Given the description of an element on the screen output the (x, y) to click on. 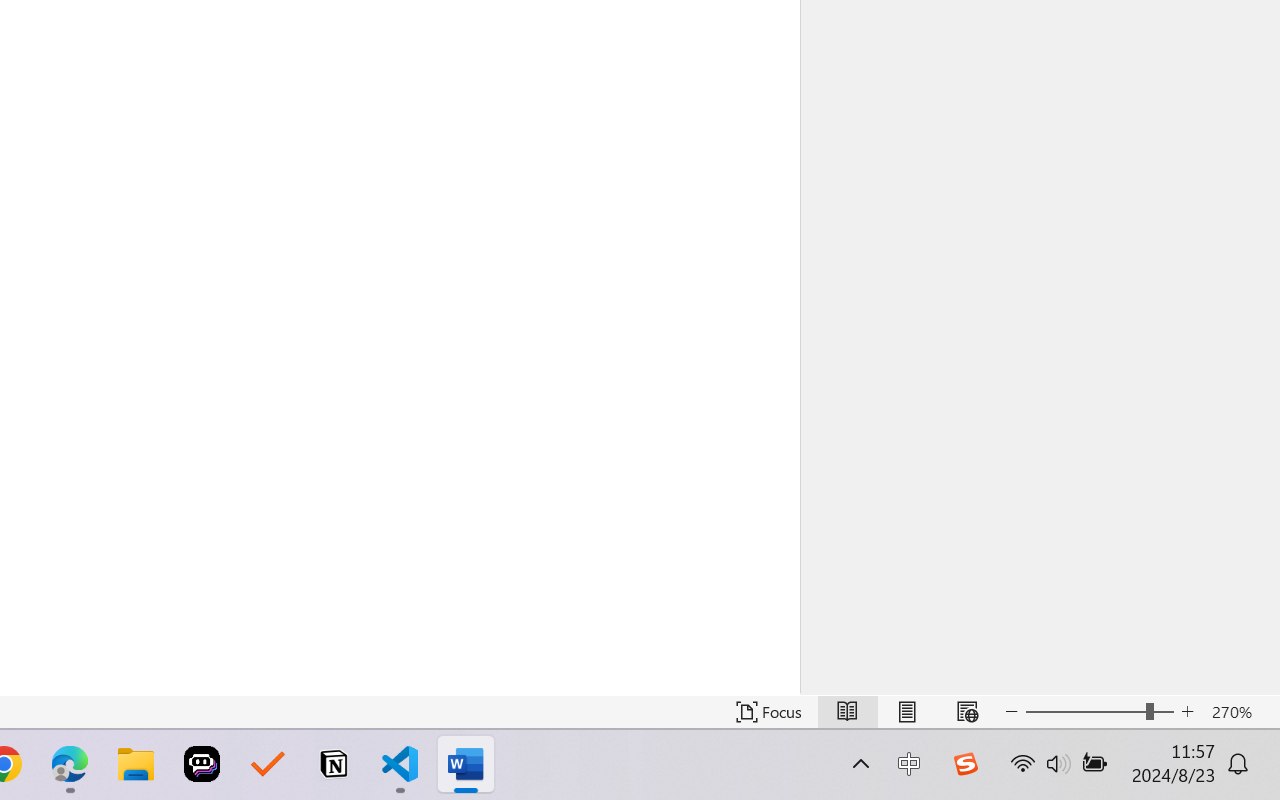
Increase Text Size (1187, 712)
Text Size (1100, 712)
Decrease Text Size (1011, 712)
